Given the description of an element on the screen output the (x, y) to click on. 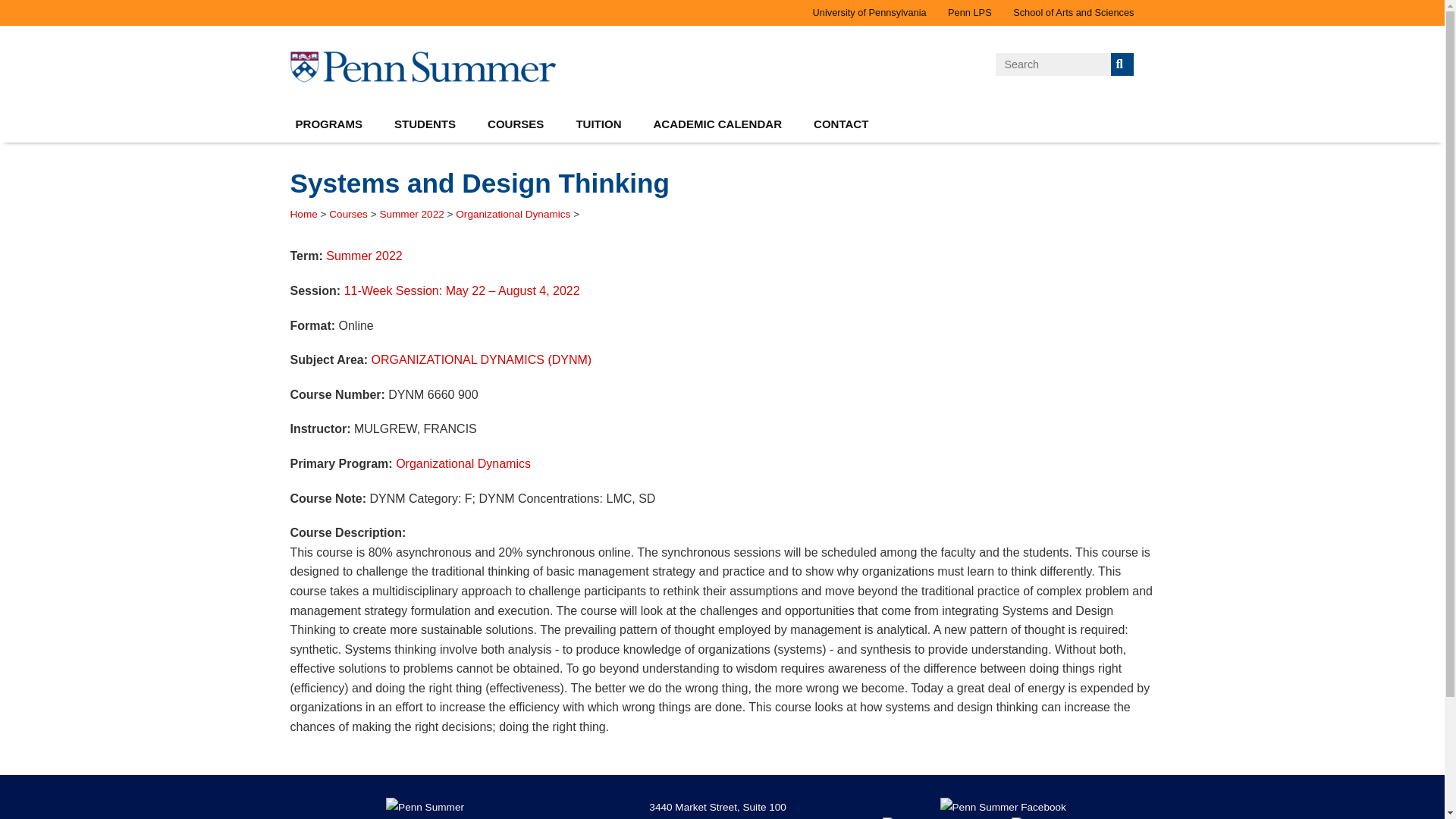
STUDENTS (424, 124)
University of Pennsylvania (869, 12)
Penn LPS (970, 12)
Enter the terms you wish to search for. (1053, 64)
COURSES (515, 124)
CONTACT (840, 124)
PROGRAMS (329, 124)
School of Arts and Sciences (1073, 12)
ACADEMIC CALENDAR (718, 124)
